Given the description of an element on the screen output the (x, y) to click on. 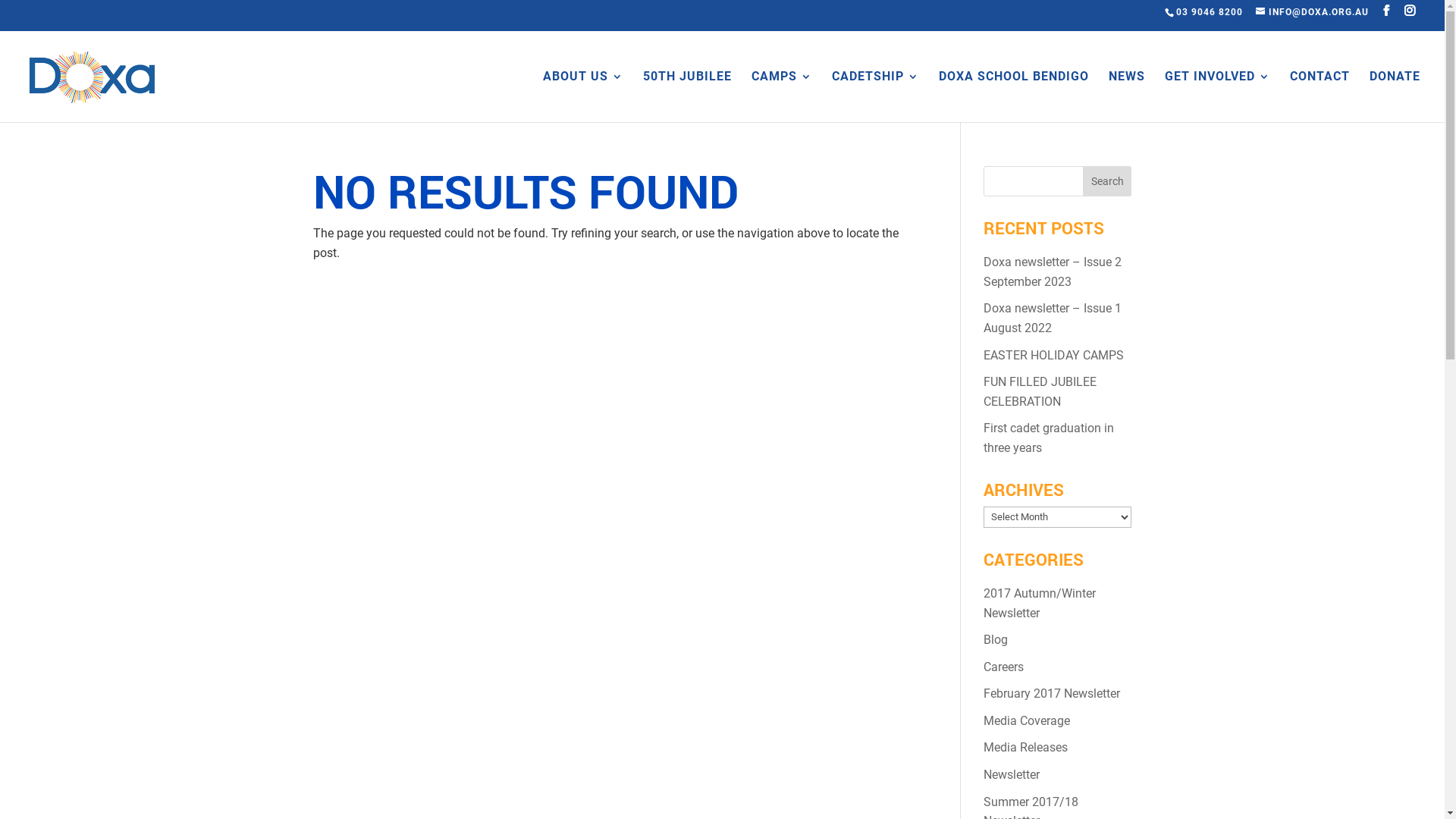
CAMPS Element type: text (781, 92)
February 2017 Newsletter Element type: text (1051, 693)
First cadet graduation in three years Element type: text (1048, 437)
EASTER HOLIDAY CAMPS Element type: text (1053, 355)
INFO@DOXA.ORG.AU Element type: text (1311, 11)
NEWS Element type: text (1126, 92)
Search Element type: text (1107, 181)
Media Coverage Element type: text (1026, 720)
CADETSHIP Element type: text (875, 92)
GET INVOLVED Element type: text (1217, 92)
Newsletter Element type: text (1011, 774)
CONTACT Element type: text (1319, 92)
Careers Element type: text (1003, 666)
ABOUT US Element type: text (582, 92)
DONATE Element type: text (1394, 92)
2017 Autumn/Winter Newsletter Element type: text (1039, 603)
50TH JUBILEE Element type: text (687, 92)
FUN FILLED JUBILEE CELEBRATION Element type: text (1039, 391)
Blog Element type: text (995, 639)
Media Releases Element type: text (1025, 747)
DOXA SCHOOL BENDIGO Element type: text (1013, 92)
